Given the description of an element on the screen output the (x, y) to click on. 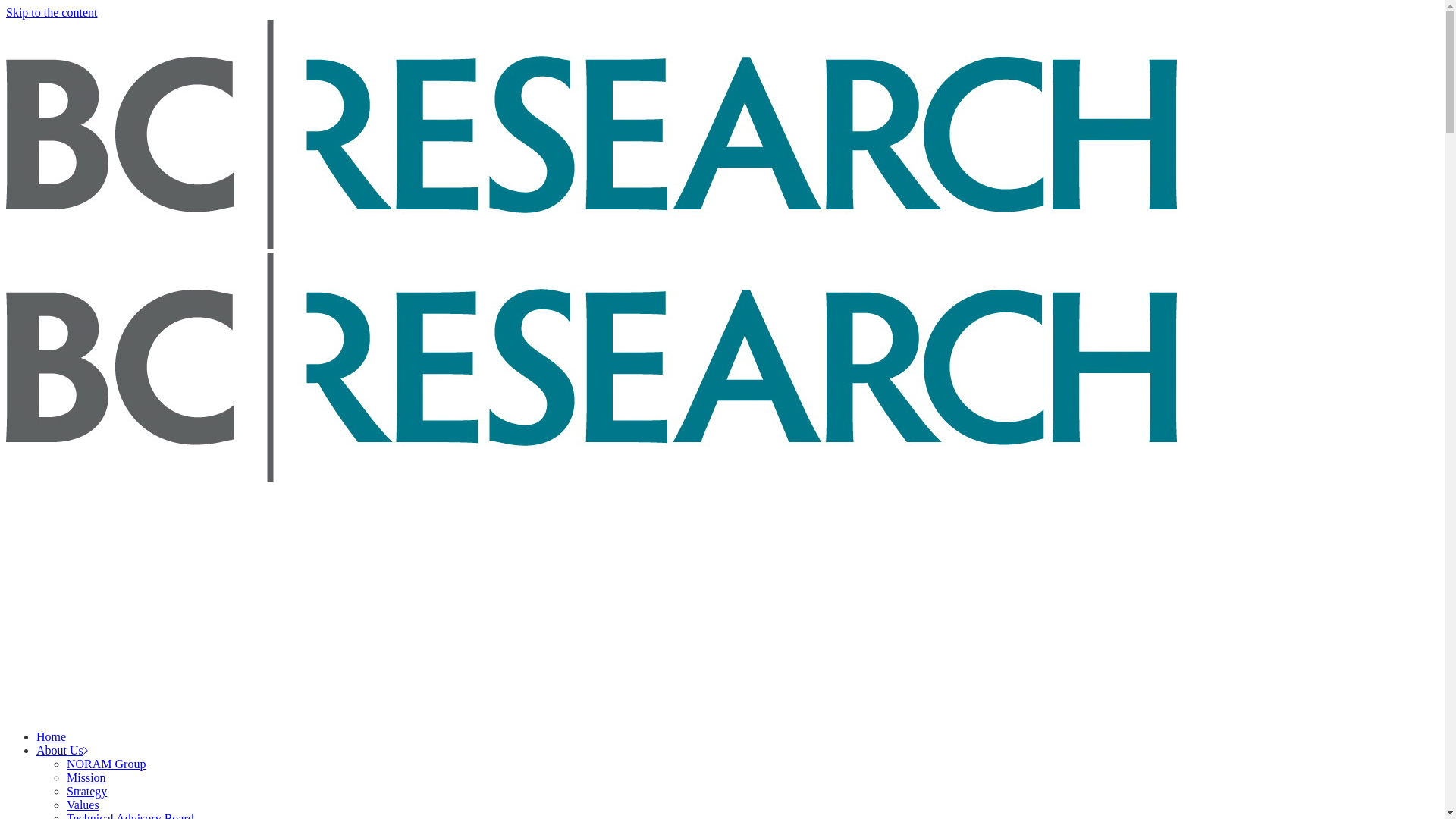
Skip to the content Element type: text (51, 12)
Mission Element type: text (86, 777)
Values Element type: text (82, 804)
NORAM Group Element type: text (105, 763)
Home Element type: text (50, 736)
Strategy Element type: text (86, 790)
About Us Element type: text (61, 749)
